Given the description of an element on the screen output the (x, y) to click on. 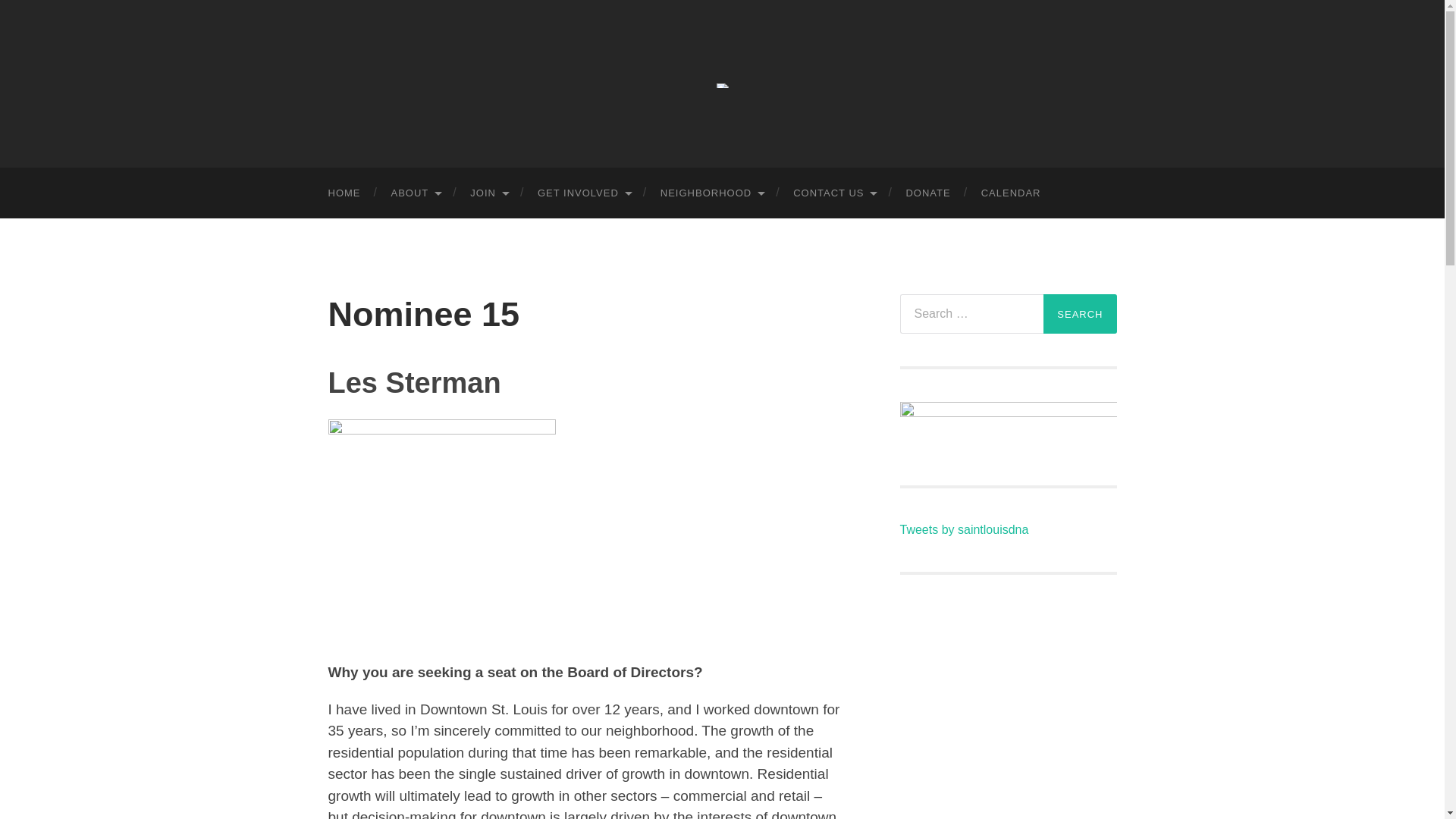
HOME (344, 192)
Search (1079, 313)
Search (1079, 313)
DONATE (927, 192)
St. Louis Downtown Neighborhood Association (722, 85)
ABOUT (415, 192)
GET INVOLVED (583, 192)
CONTACT US (833, 192)
JOIN (488, 192)
NEIGHBORHOOD (711, 192)
